Given the description of an element on the screen output the (x, y) to click on. 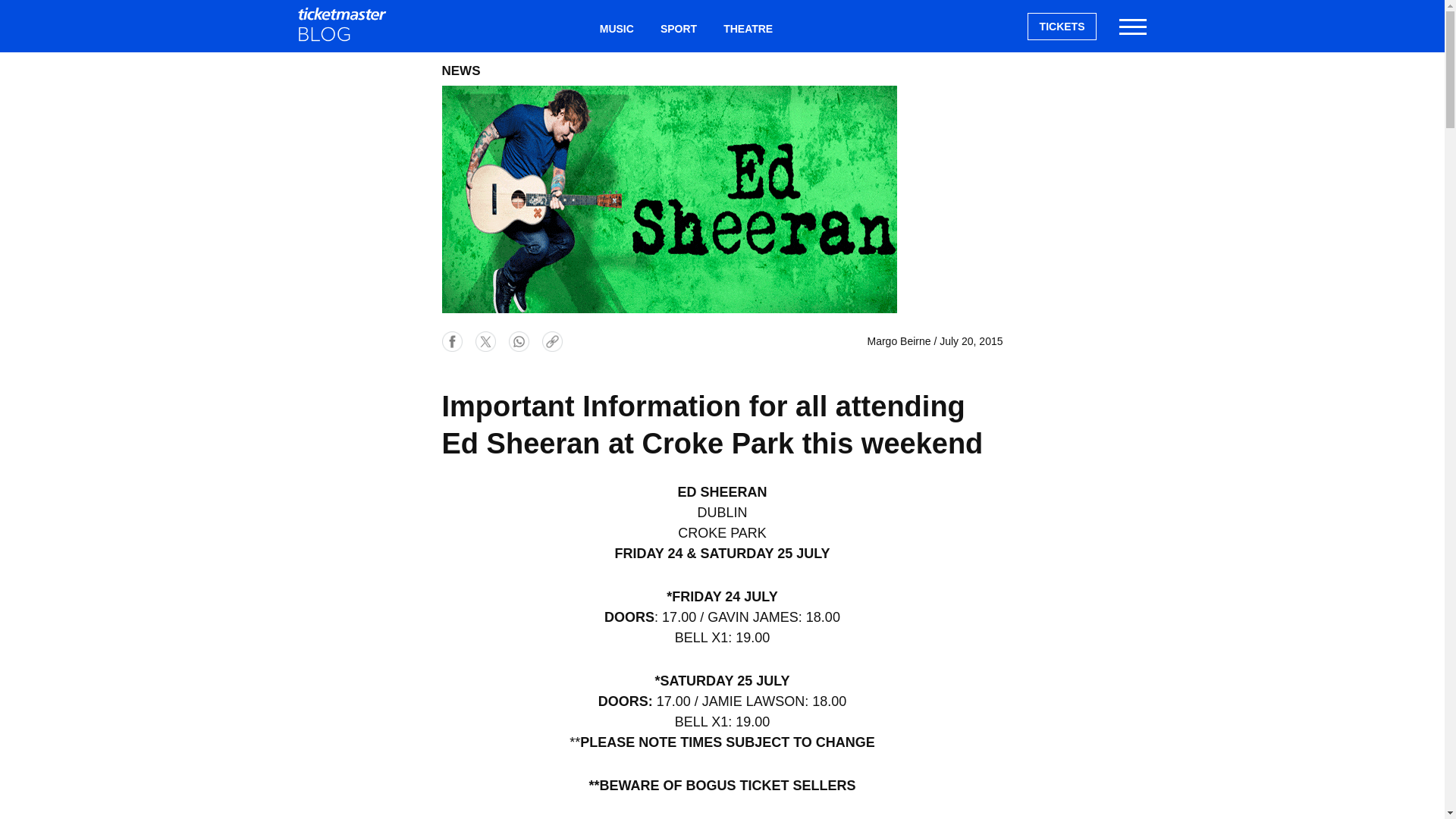
MUSIC (616, 28)
SPORT (678, 28)
Margo Beirne (899, 340)
TICKETS (1062, 26)
THEATRE (747, 28)
